Given the description of an element on the screen output the (x, y) to click on. 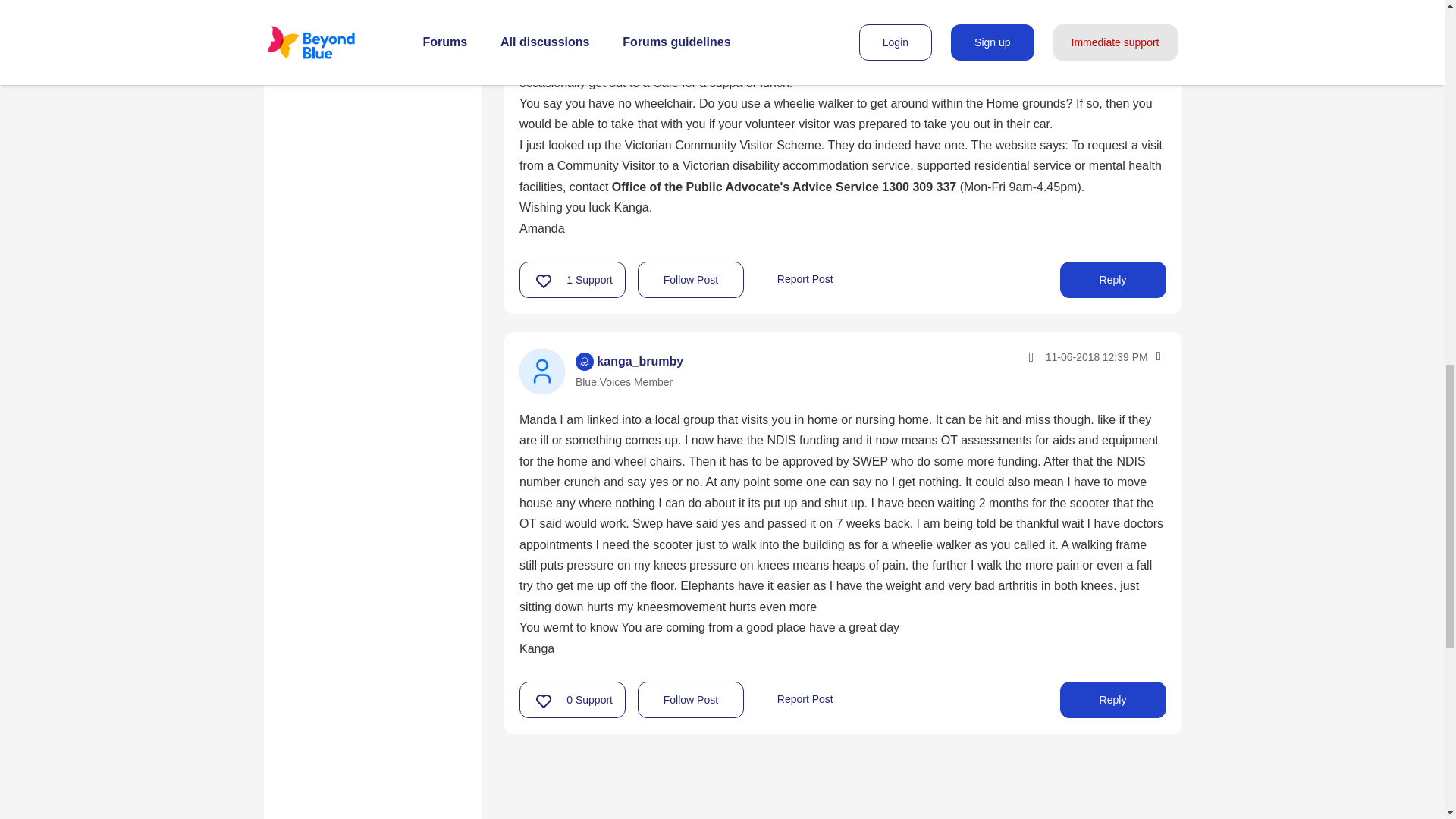
Click here to give support to this post. (543, 280)
Blue Voices Member (584, 361)
